Given the description of an element on the screen output the (x, y) to click on. 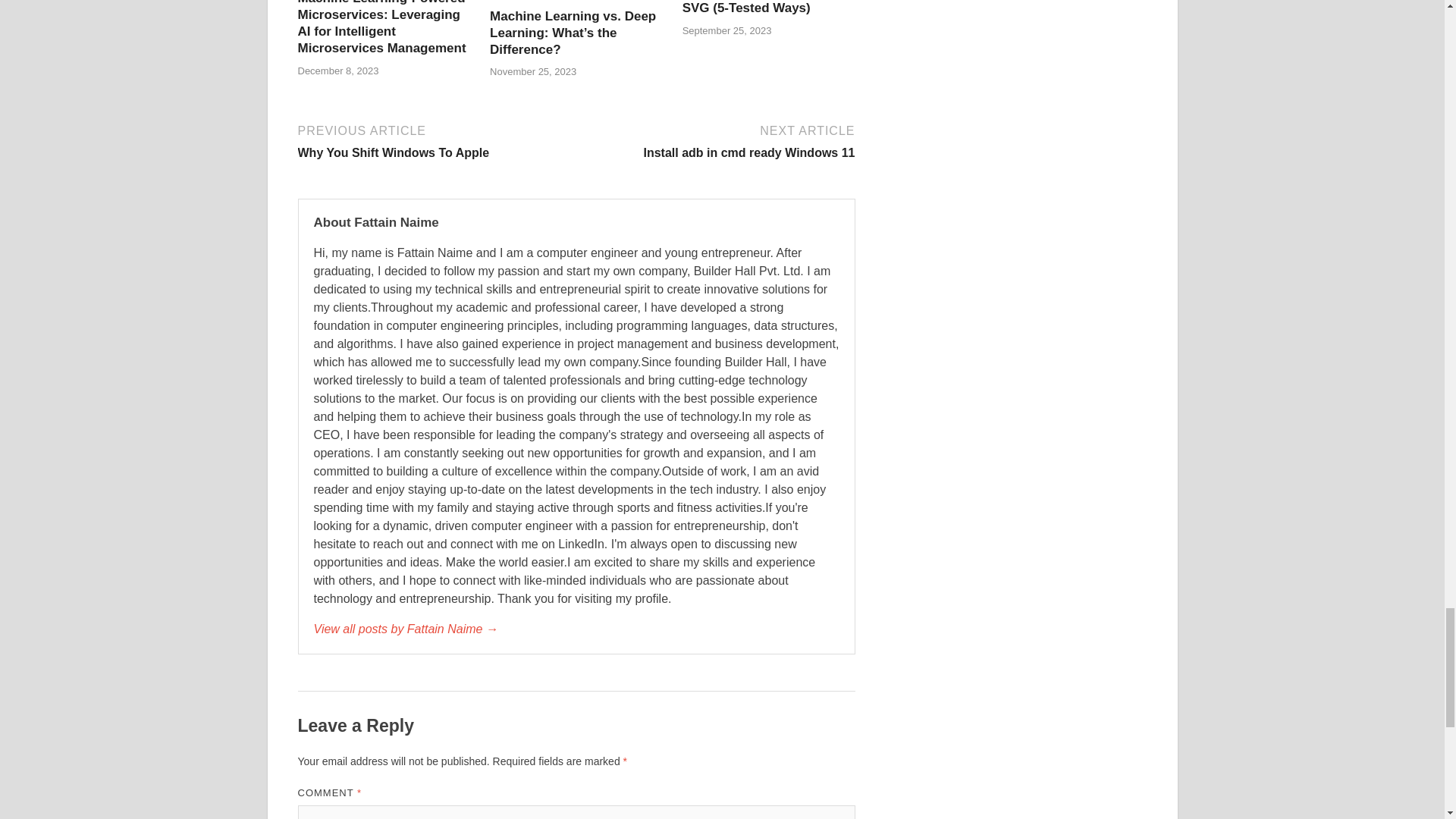
Fattain Naime (577, 628)
